Given the description of an element on the screen output the (x, y) to click on. 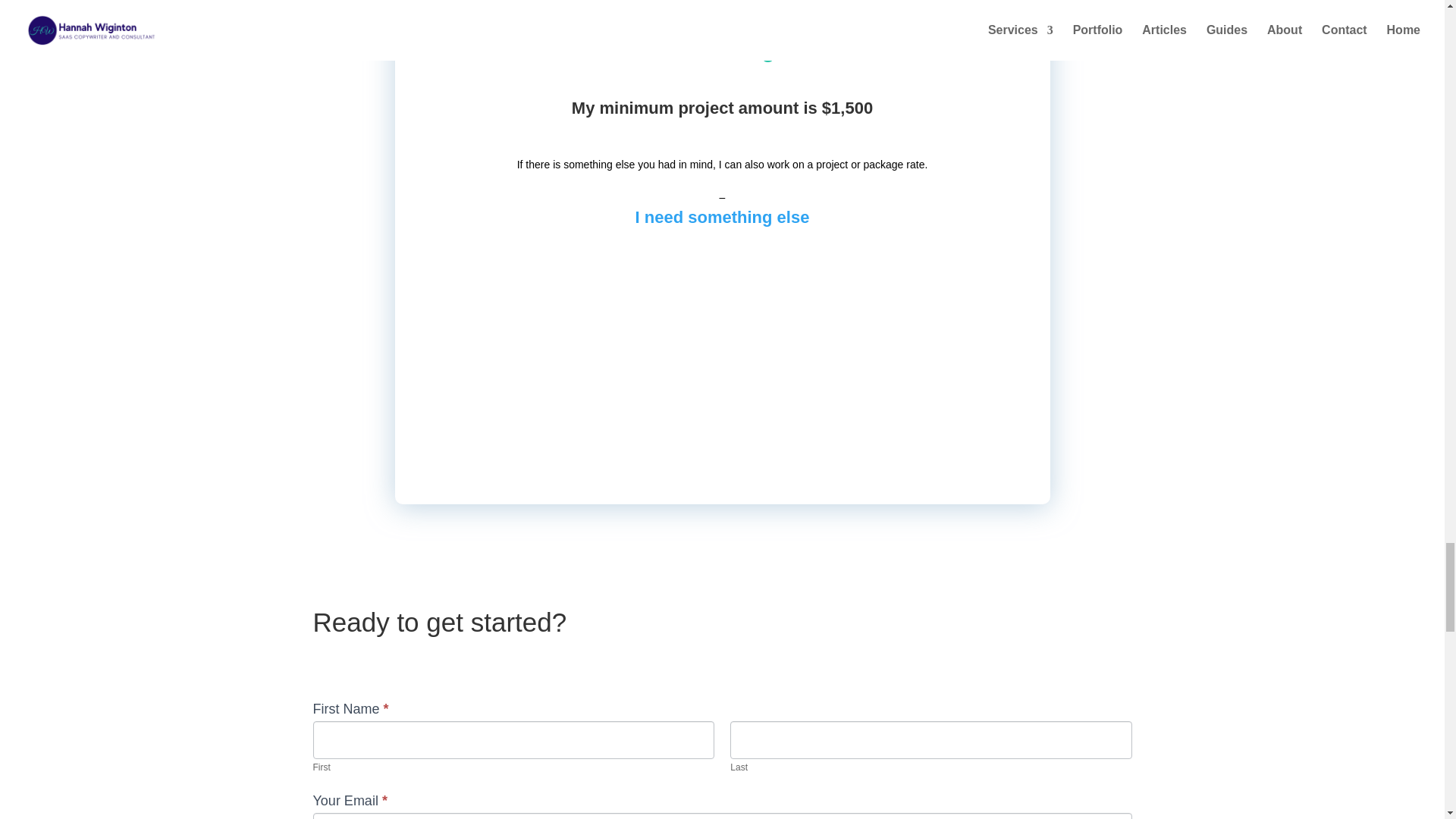
I need something else (721, 217)
